Given the description of an element on the screen output the (x, y) to click on. 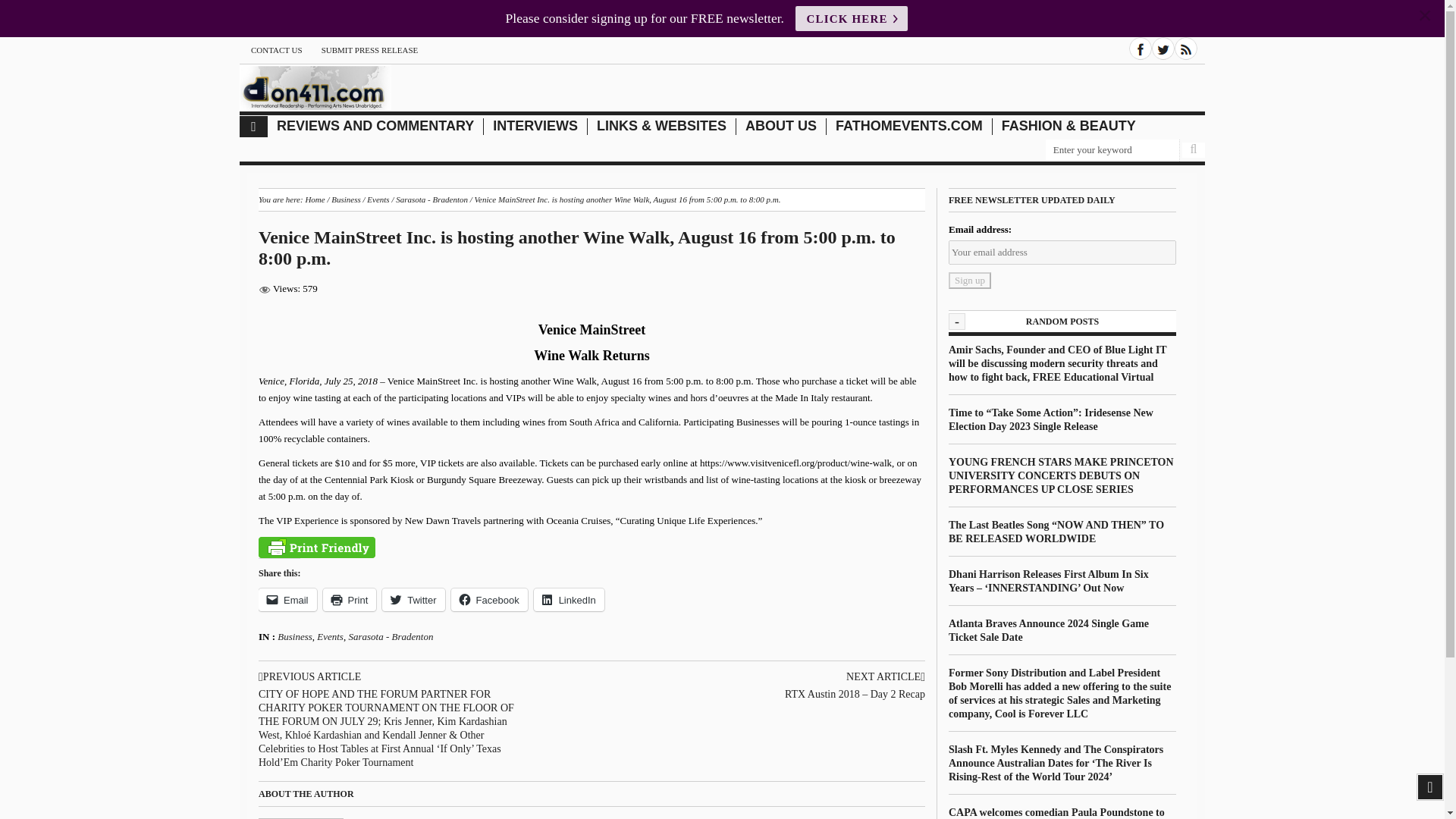
Click to share on Twitter (412, 599)
INTERVIEWS (535, 125)
Twitter (1162, 47)
Click to share on Facebook (489, 599)
Email (288, 599)
Events (377, 198)
Sarasota - Bradenton (431, 198)
Business (346, 198)
Facebook (1140, 47)
Facebook (489, 599)
